Given the description of an element on the screen output the (x, y) to click on. 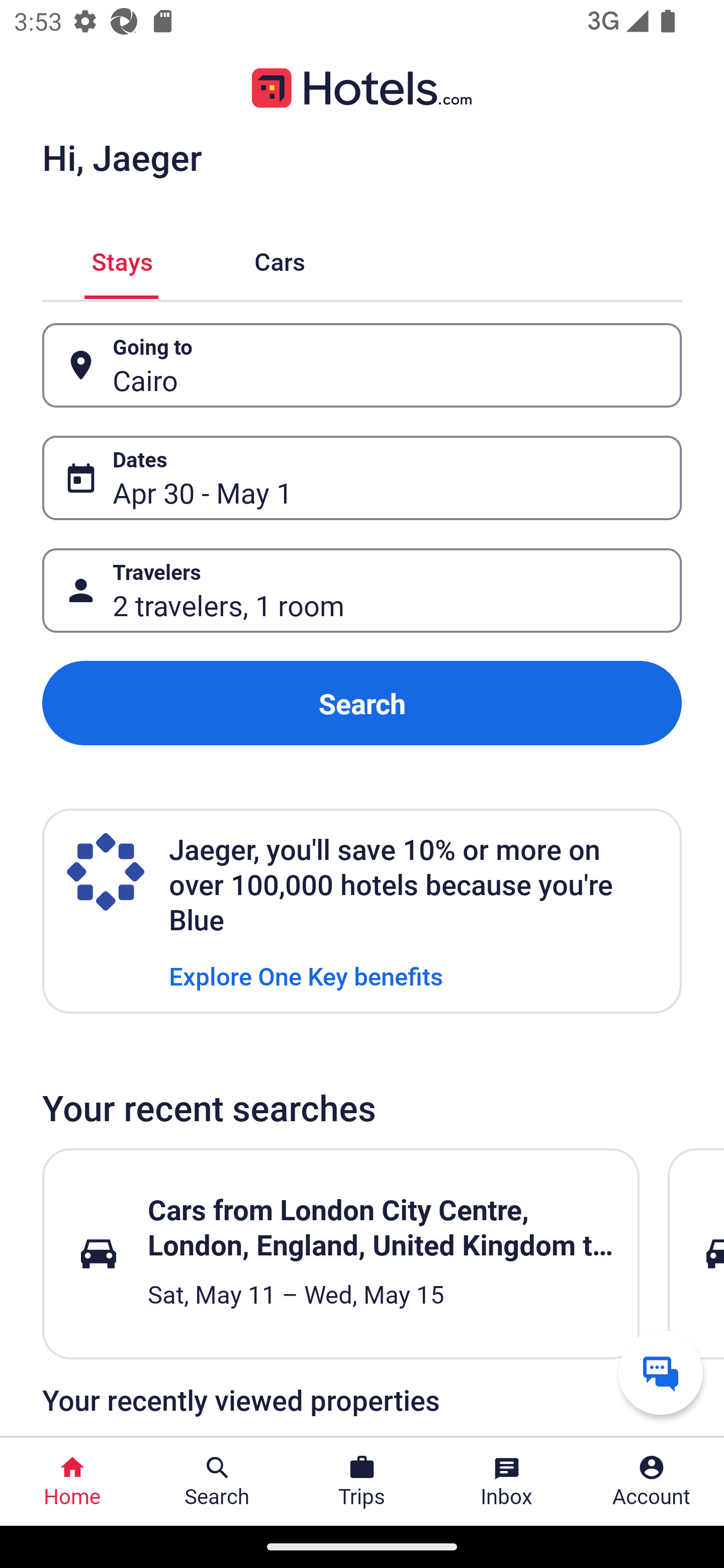
Hi, Jaeger (121, 156)
Cars (279, 259)
Going to Button Cairo (361, 365)
Dates Button Apr 30 - May 1 (361, 477)
Travelers Button 2 travelers, 1 room (361, 590)
Search (361, 702)
Get help from a virtual agent (660, 1371)
Search Search Button (216, 1481)
Trips Trips Button (361, 1481)
Inbox Inbox Button (506, 1481)
Account Profile. Button (651, 1481)
